Given the description of an element on the screen output the (x, y) to click on. 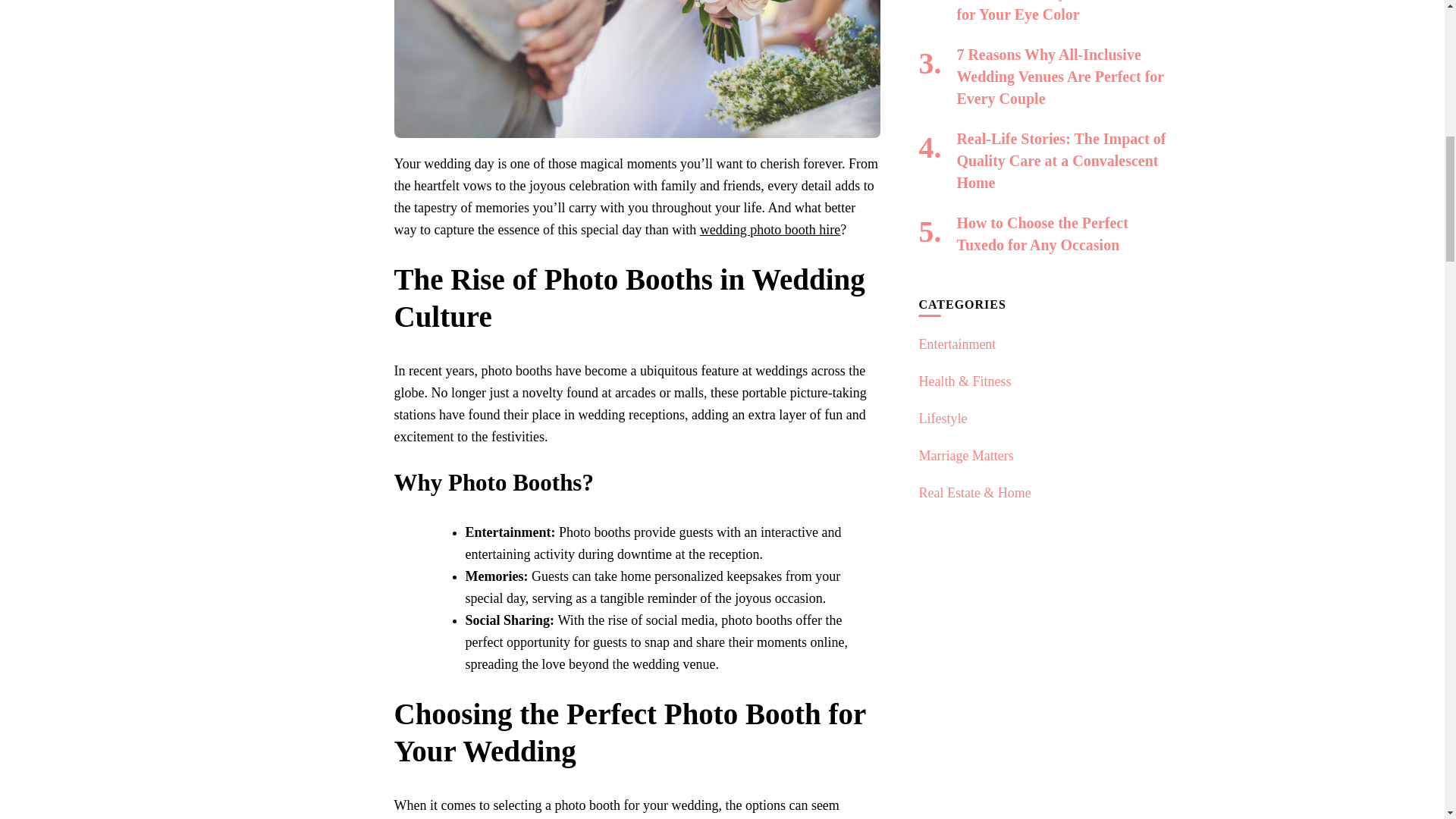
wedding photo booth hire (770, 229)
